Given the description of an element on the screen output the (x, y) to click on. 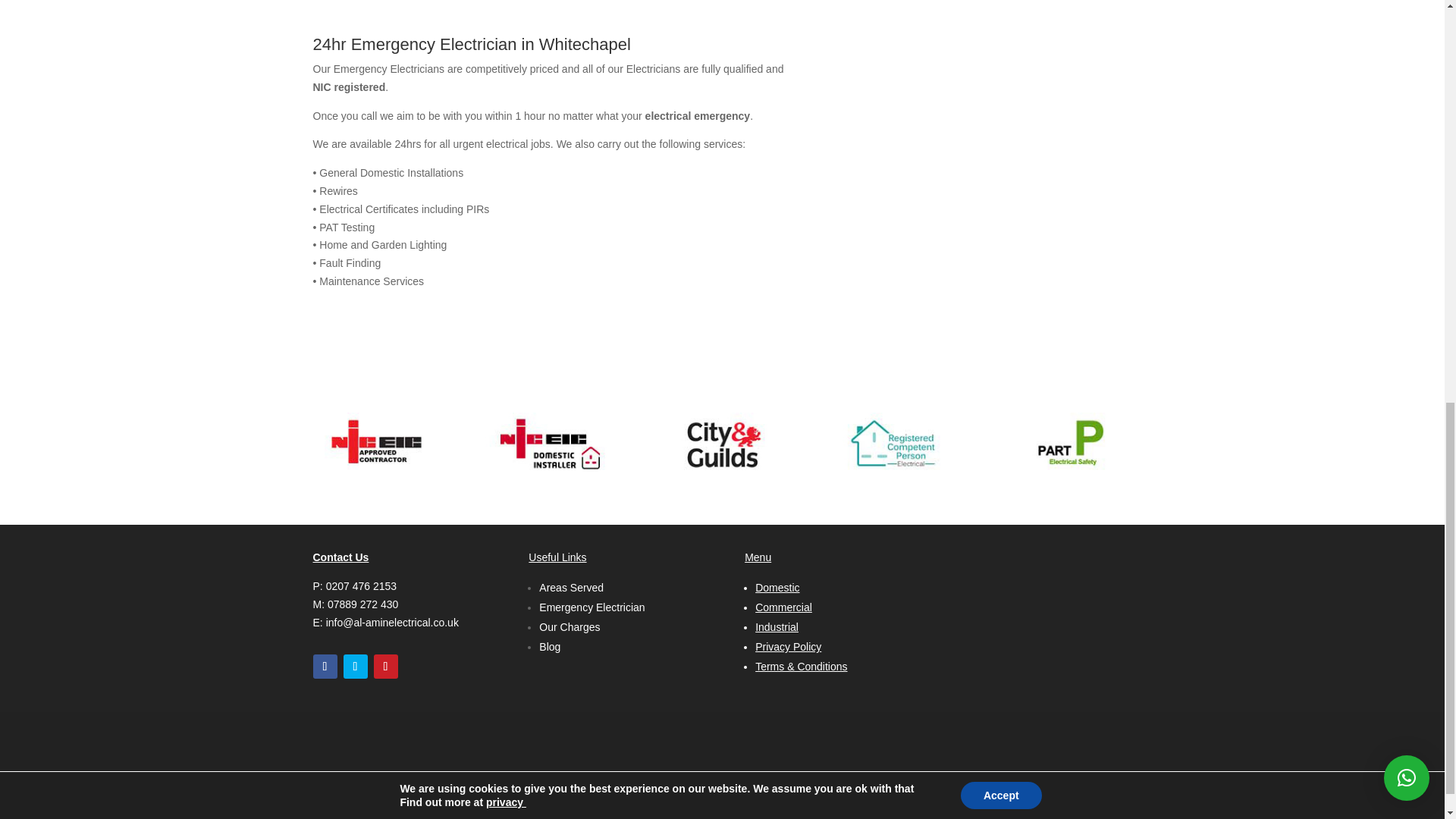
Whitechapel Al-Amin Electricals (1067, 444)
Whitechapel Al-Amin Electricals (894, 444)
Follow on Facebook (324, 666)
Whitechapel Al-Amin Electricals (548, 444)
Follow on Twitter (354, 666)
Follow on Pinterest (384, 666)
Whitechapel Al-Amin Electricals (376, 444)
Whitechapel Al-Amin Electricals (722, 444)
